Given the description of an element on the screen output the (x, y) to click on. 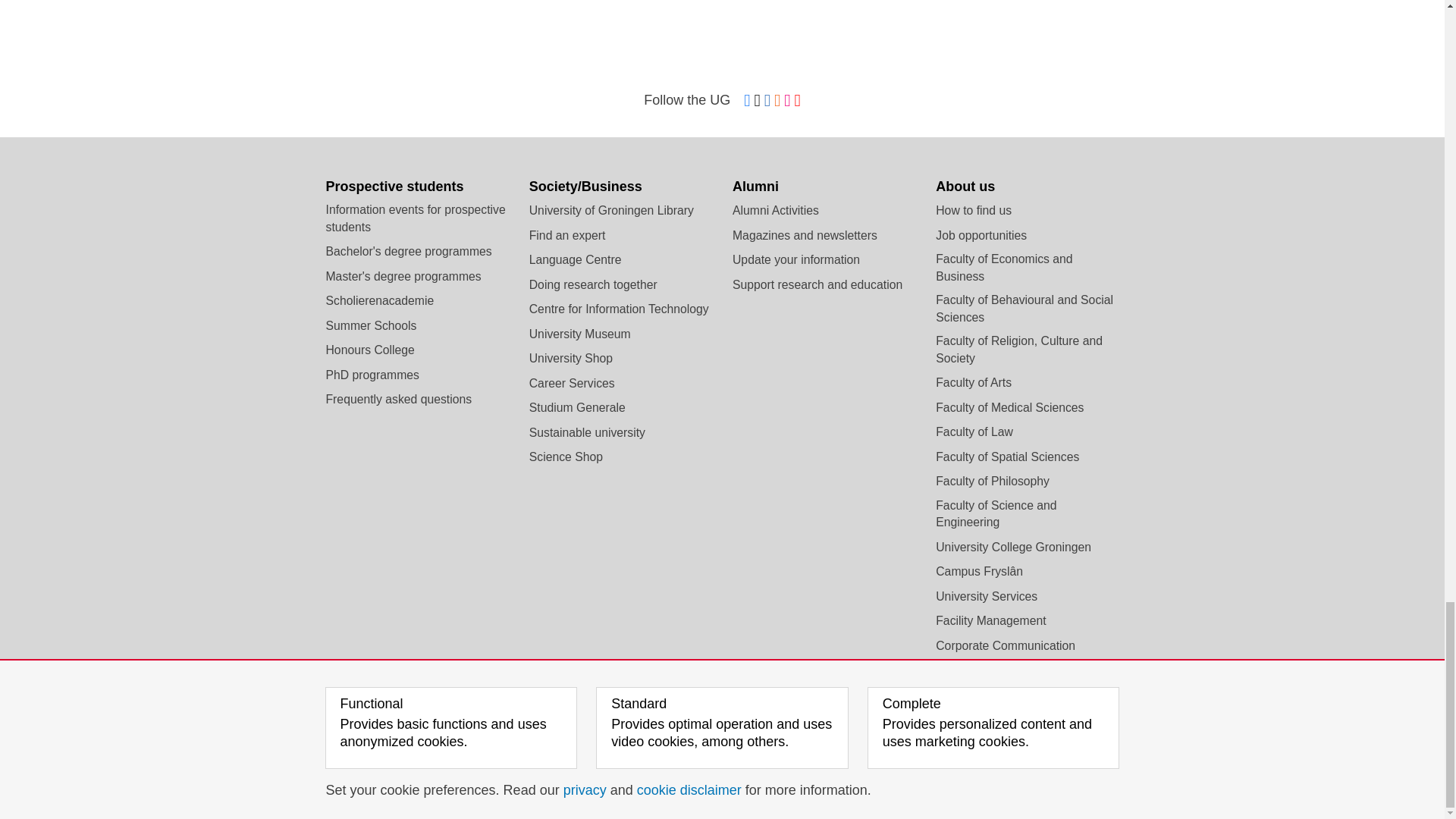
youtube (797, 100)
linkedin (767, 100)
rss (777, 100)
twitter (757, 100)
facebook (746, 100)
instagram (787, 100)
